Given the description of an element on the screen output the (x, y) to click on. 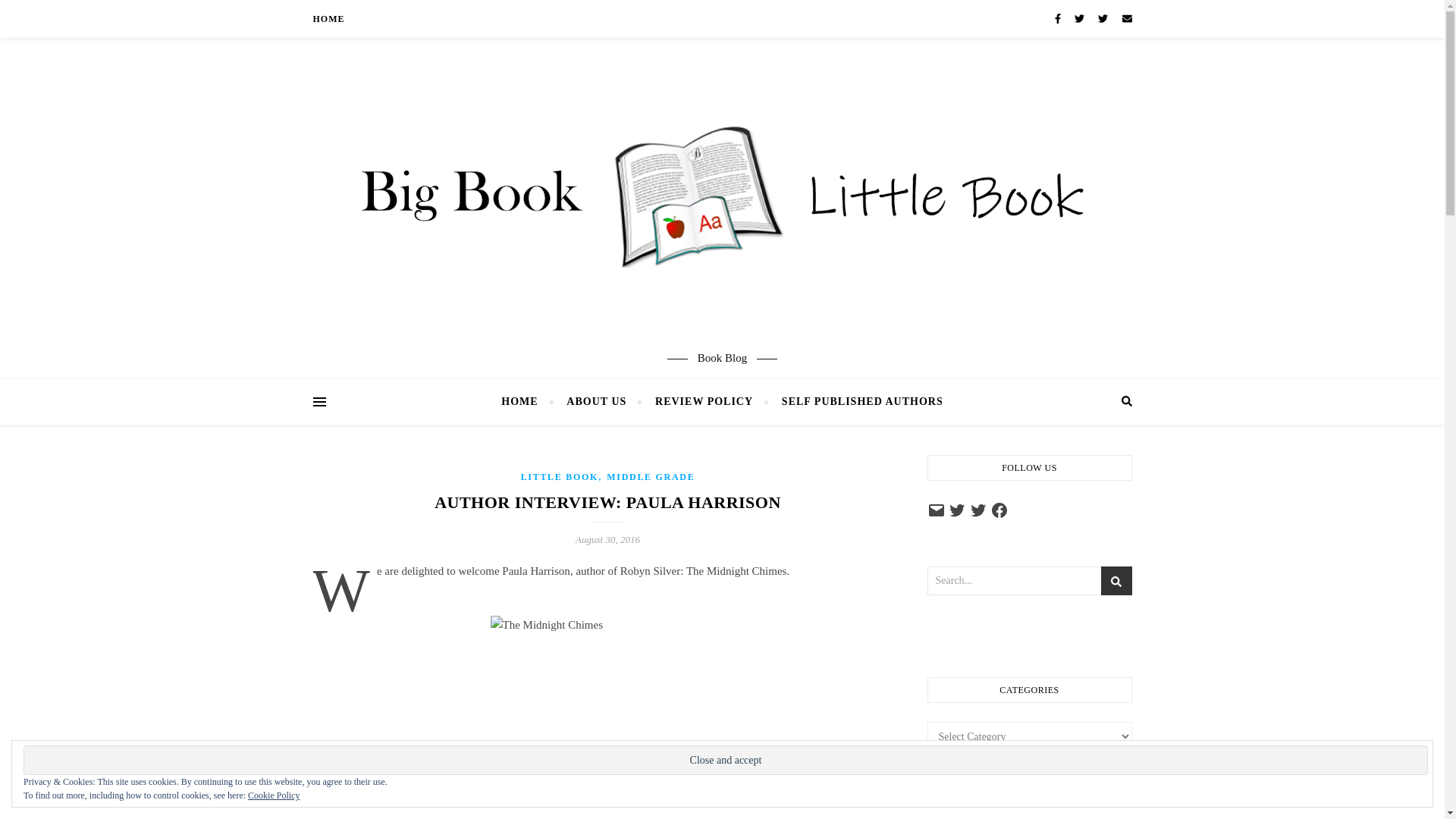
LITTLE BOOK (559, 476)
ABOUT US (596, 402)
SELF PUBLISHED AUTHORS (855, 402)
HOME (525, 402)
Close and accept (725, 759)
MIDDLE GRADE (650, 476)
REVIEW POLICY (703, 402)
